Given the description of an element on the screen output the (x, y) to click on. 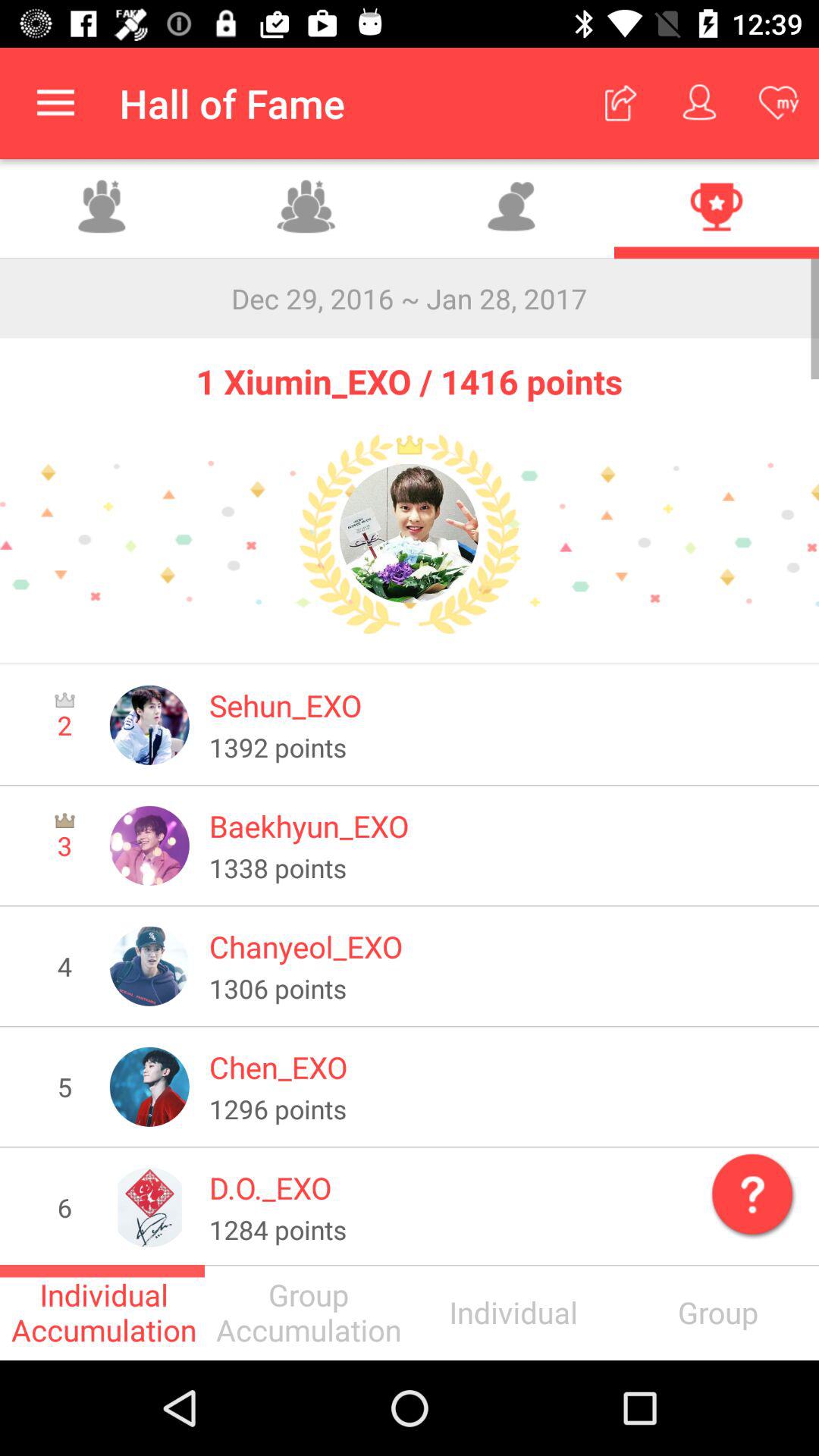
turn off icon to the left of the hall of fame app (55, 103)
